Given the description of an element on the screen output the (x, y) to click on. 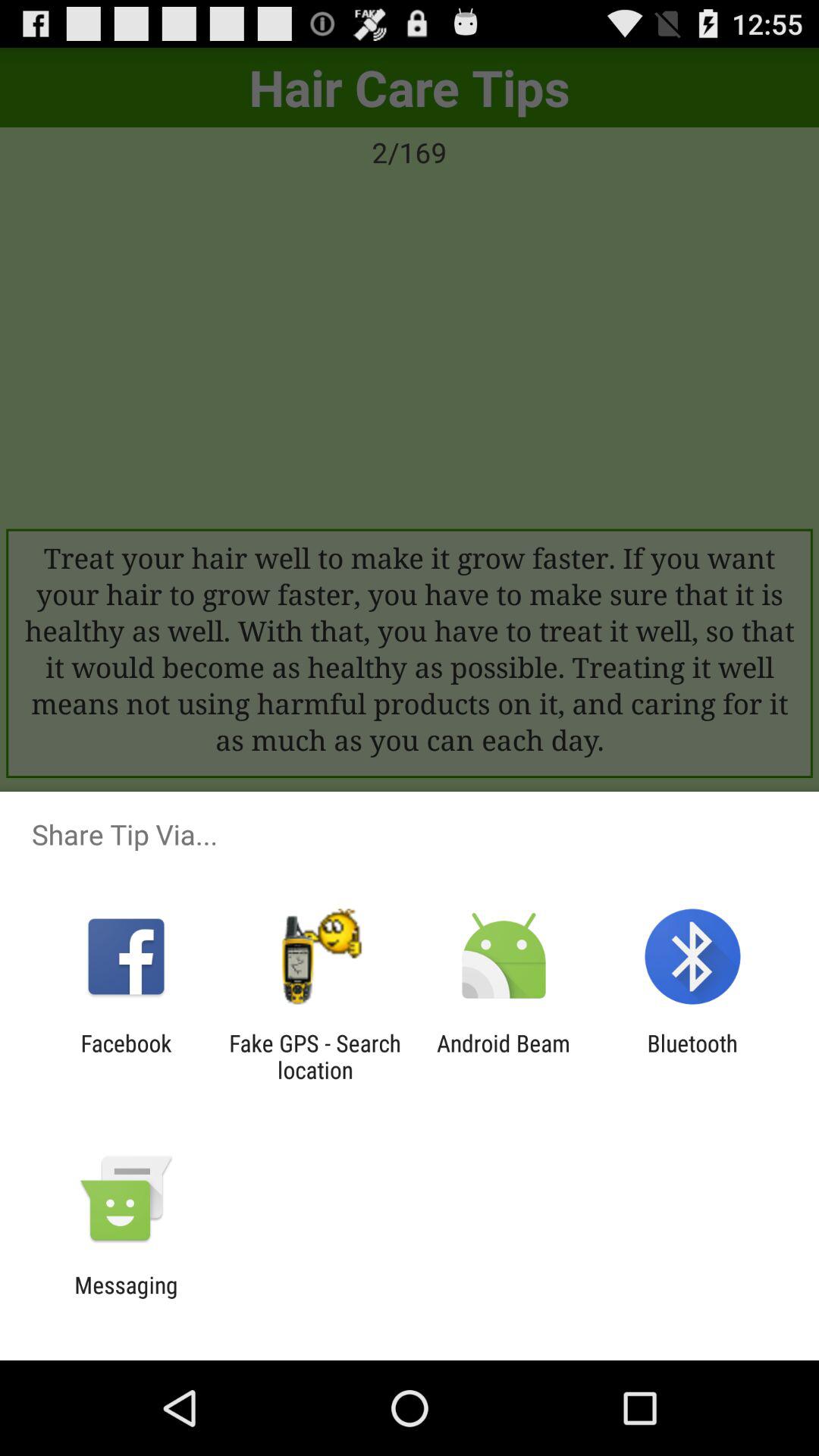
turn on the facebook item (125, 1056)
